Given the description of an element on the screen output the (x, y) to click on. 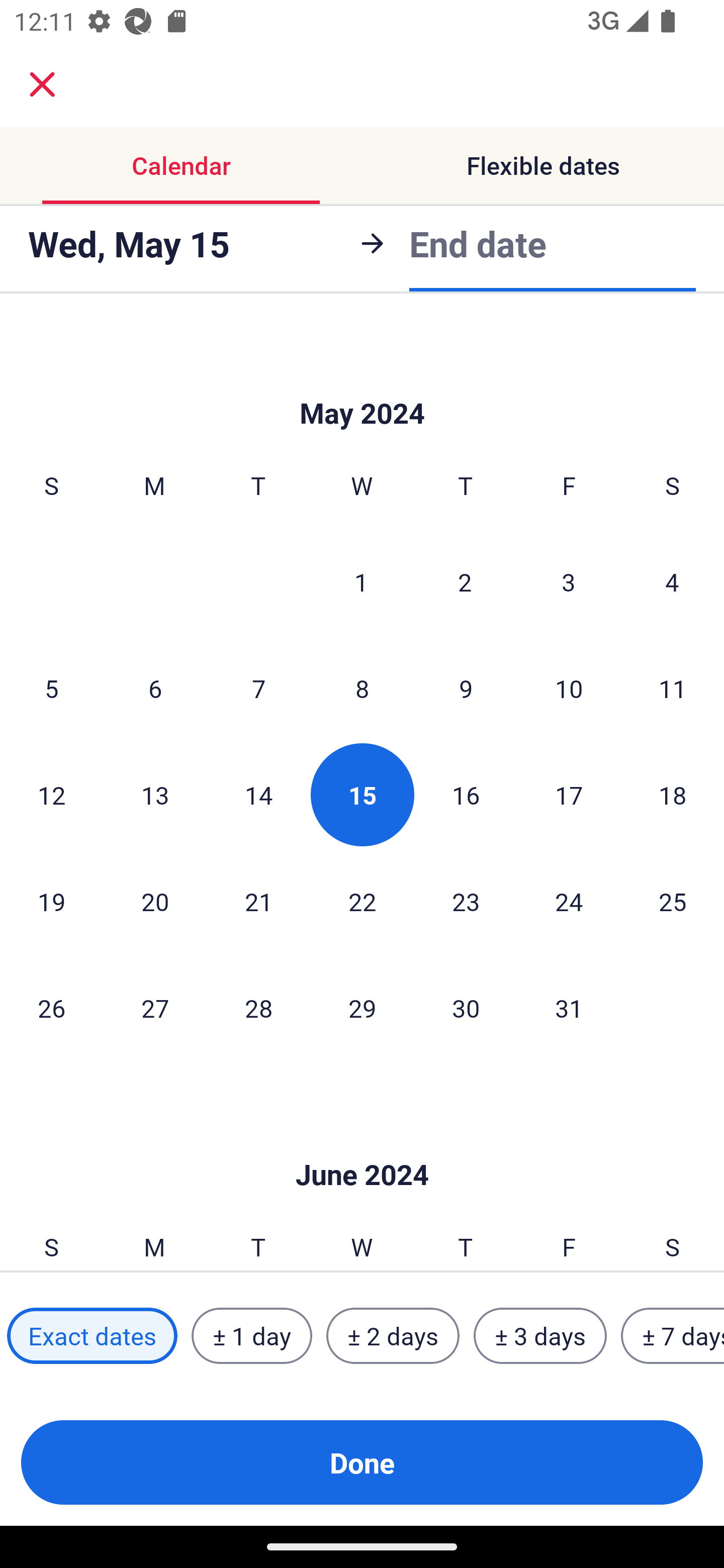
close. (42, 84)
Flexible dates (542, 164)
End date (477, 243)
Skip to Done (362, 382)
1 Wednesday, May 1, 2024 (361, 581)
2 Thursday, May 2, 2024 (464, 581)
3 Friday, May 3, 2024 (568, 581)
4 Saturday, May 4, 2024 (672, 581)
5 Sunday, May 5, 2024 (51, 688)
6 Monday, May 6, 2024 (155, 688)
7 Tuesday, May 7, 2024 (258, 688)
8 Wednesday, May 8, 2024 (362, 688)
9 Thursday, May 9, 2024 (465, 688)
10 Friday, May 10, 2024 (569, 688)
11 Saturday, May 11, 2024 (672, 688)
12 Sunday, May 12, 2024 (51, 794)
13 Monday, May 13, 2024 (155, 794)
14 Tuesday, May 14, 2024 (258, 794)
16 Thursday, May 16, 2024 (465, 794)
17 Friday, May 17, 2024 (569, 794)
18 Saturday, May 18, 2024 (672, 794)
19 Sunday, May 19, 2024 (51, 901)
20 Monday, May 20, 2024 (155, 901)
21 Tuesday, May 21, 2024 (258, 901)
22 Wednesday, May 22, 2024 (362, 901)
23 Thursday, May 23, 2024 (465, 901)
24 Friday, May 24, 2024 (569, 901)
25 Saturday, May 25, 2024 (672, 901)
26 Sunday, May 26, 2024 (51, 1007)
27 Monday, May 27, 2024 (155, 1007)
28 Tuesday, May 28, 2024 (258, 1007)
29 Wednesday, May 29, 2024 (362, 1007)
30 Thursday, May 30, 2024 (465, 1007)
31 Friday, May 31, 2024 (569, 1007)
Skip to Done (362, 1144)
Exact dates (92, 1335)
± 1 day (251, 1335)
± 2 days (392, 1335)
± 3 days (539, 1335)
± 7 days (672, 1335)
Done (361, 1462)
